Given the description of an element on the screen output the (x, y) to click on. 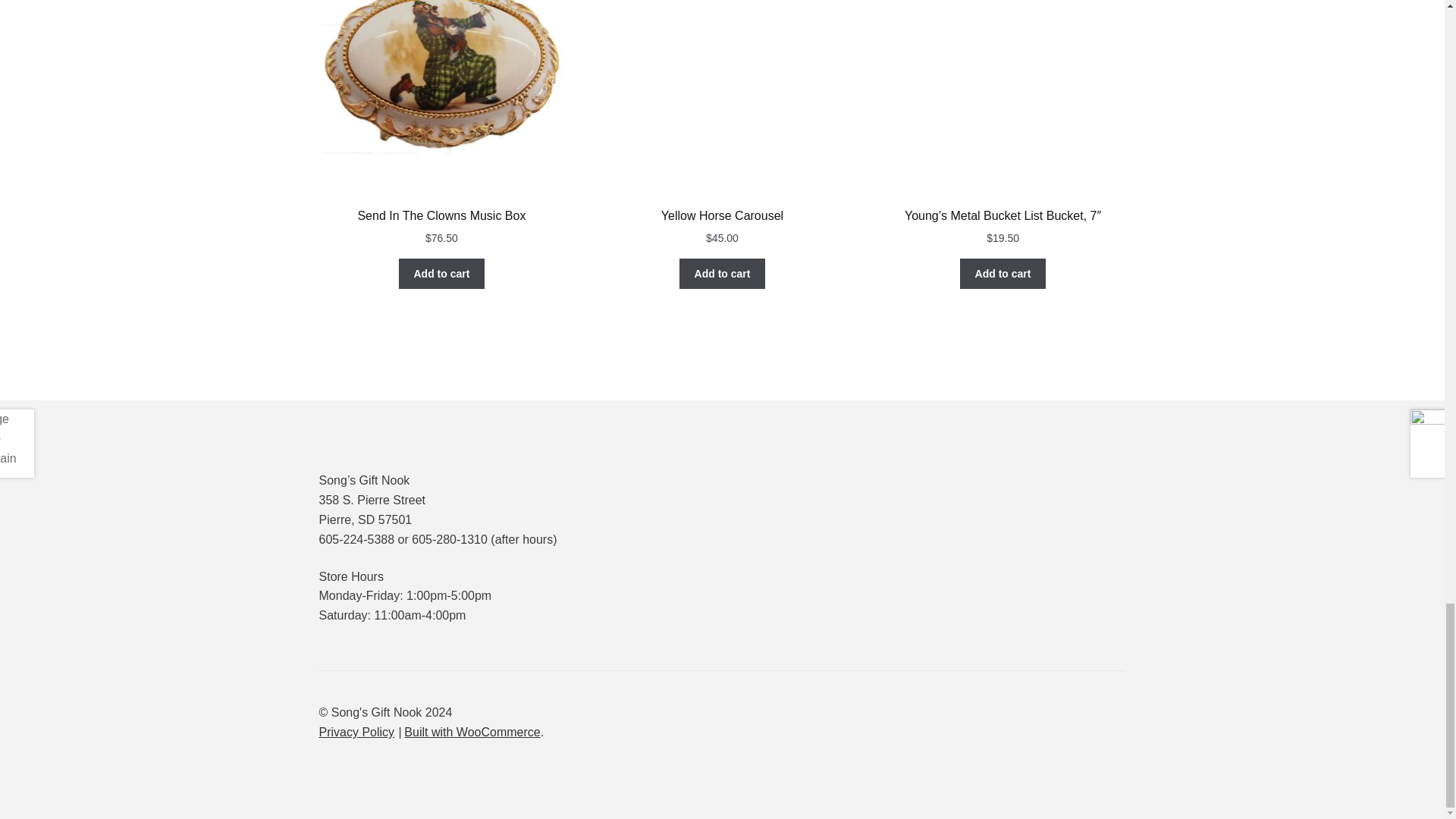
WooCommerce - The Best eCommerce Platform for WordPress (472, 731)
